Given the description of an element on the screen output the (x, y) to click on. 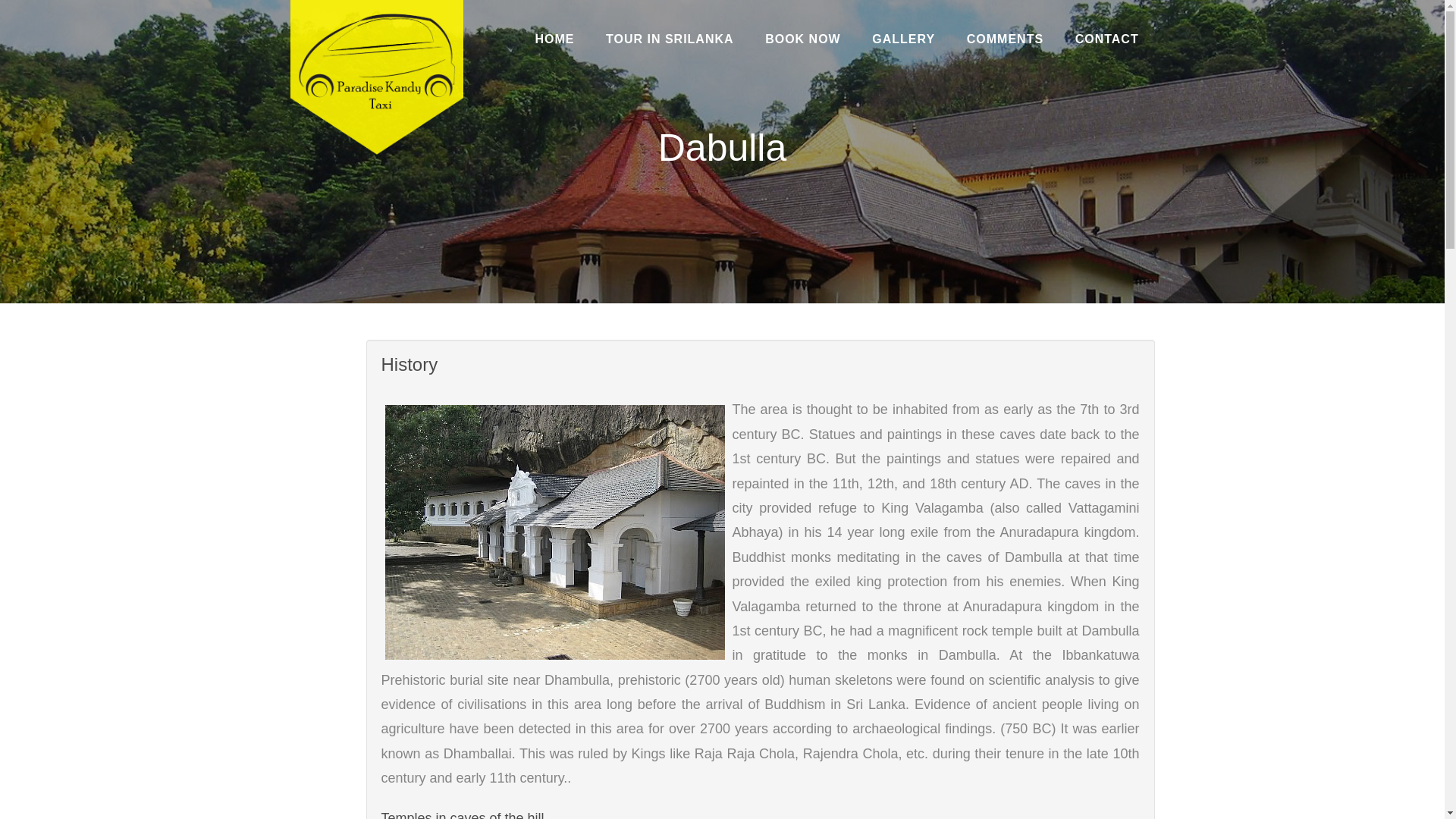
COMMENTS (1004, 40)
BOOK NOW (802, 40)
CONTACT (1106, 40)
TOUR IN SRILANKA (669, 40)
GALLERY (903, 40)
